Given the description of an element on the screen output the (x, y) to click on. 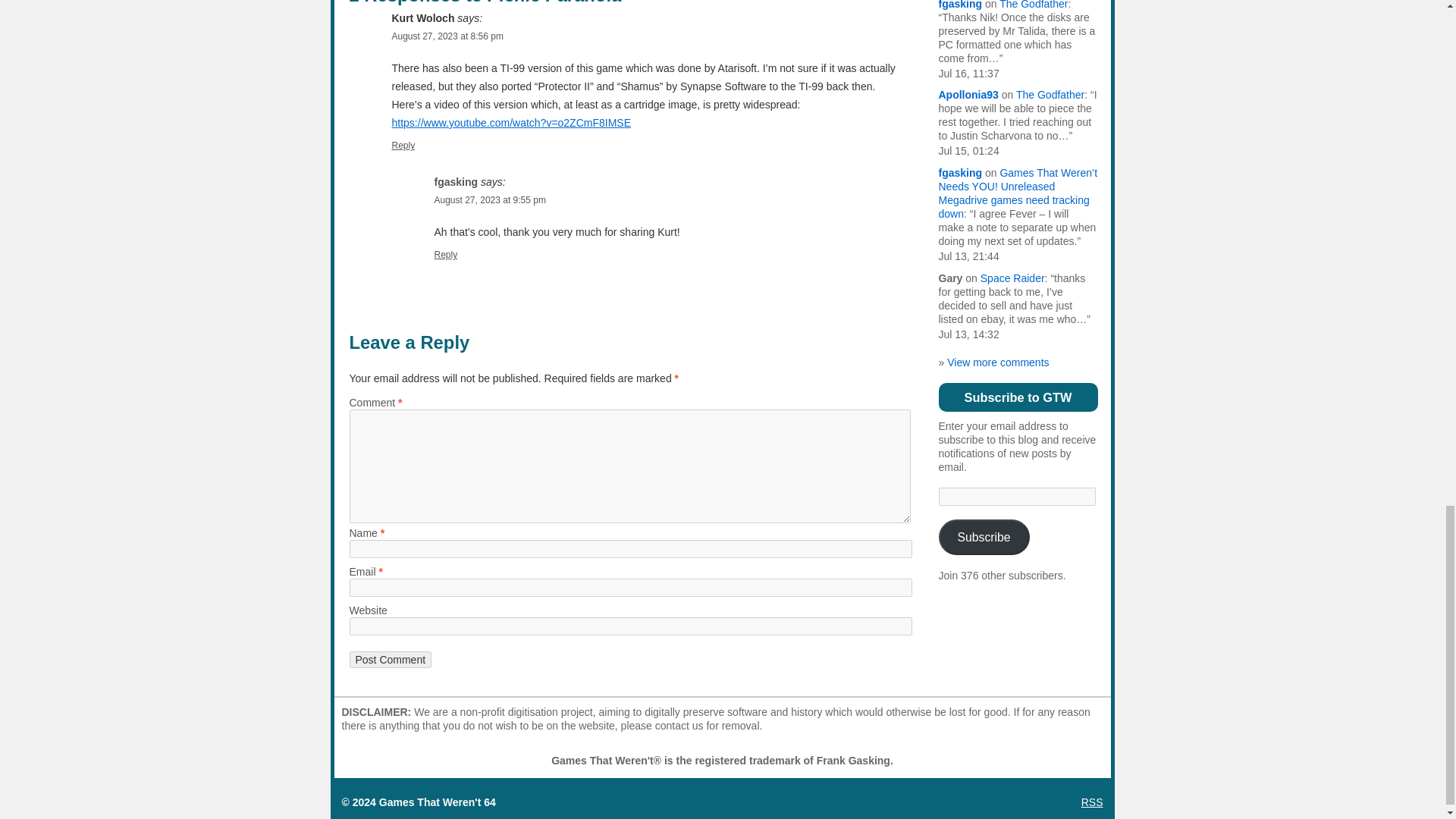
Post Comment (389, 659)
